Given the description of an element on the screen output the (x, y) to click on. 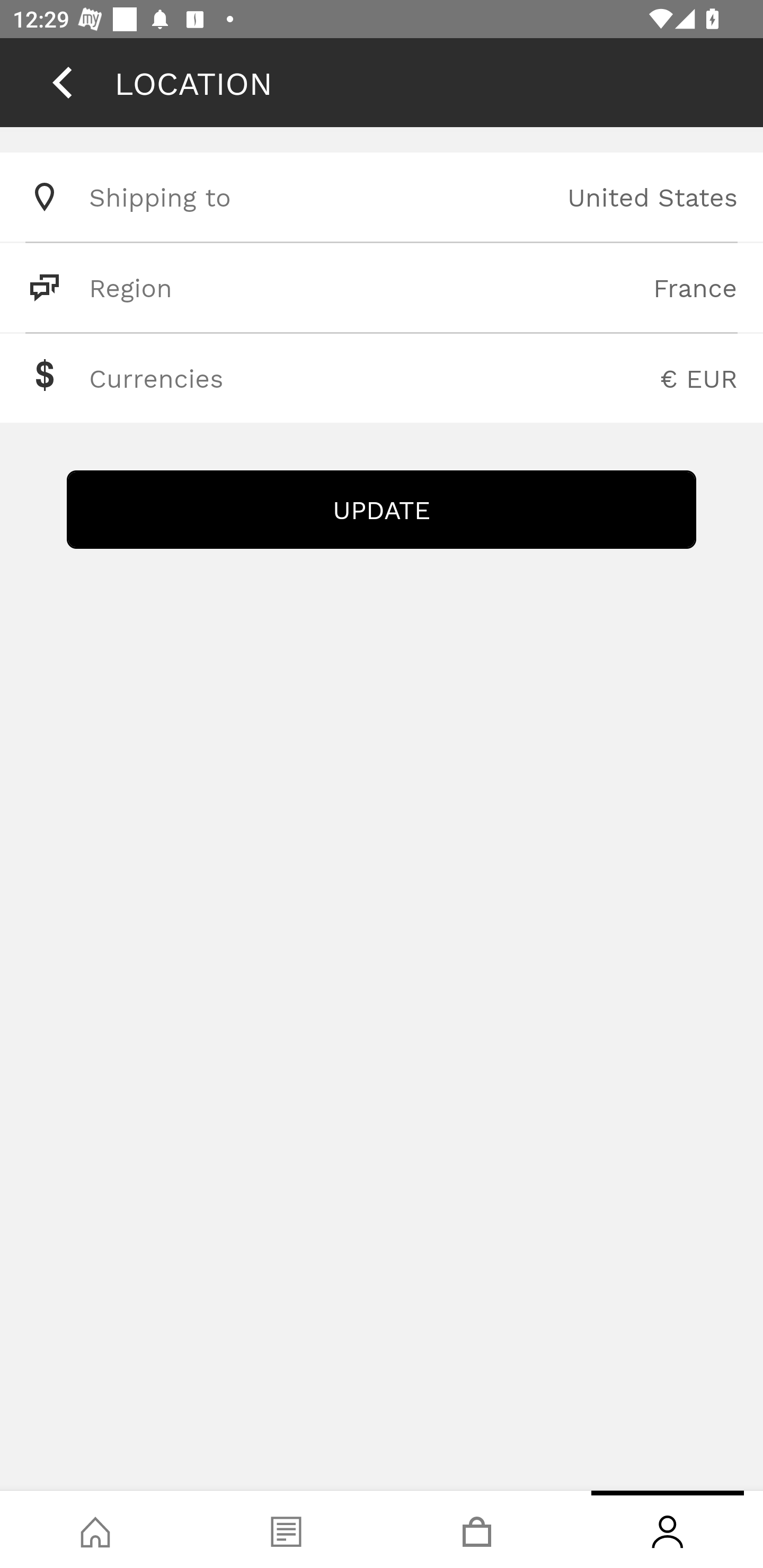
ACCOUNT, back (61, 82)
Shipping to Shipping to United States (381, 196)
Region Region France (381, 287)
Currencies Currencies € EUR (381, 378)
Update UPDATE (381, 509)
Shop, tab, 1 of 4 (95, 1529)
Blog, tab, 2 of 4 (285, 1529)
Basket, tab, 3 of 4 (476, 1529)
Account, tab, 4 of 4 (667, 1529)
